Given the description of an element on the screen output the (x, y) to click on. 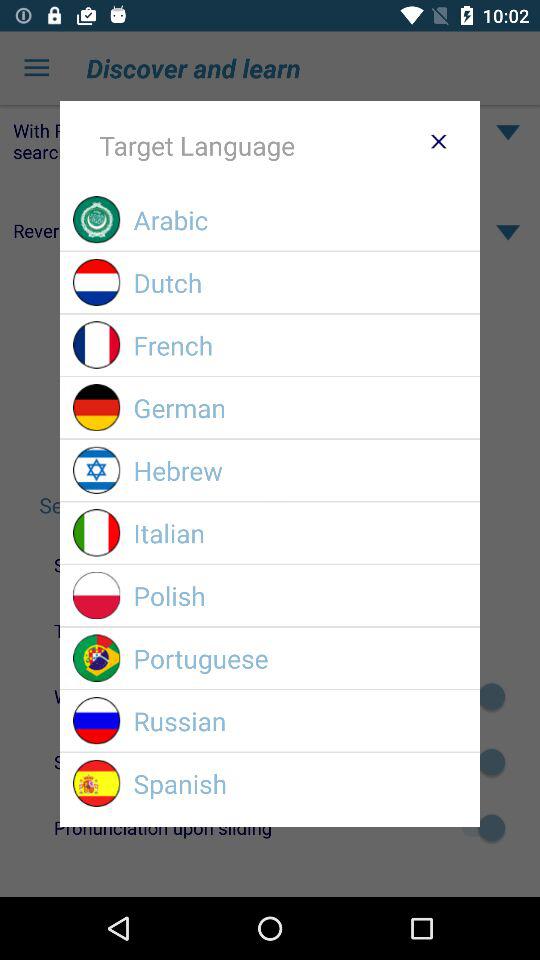
close dialog (438, 141)
